Given the description of an element on the screen output the (x, y) to click on. 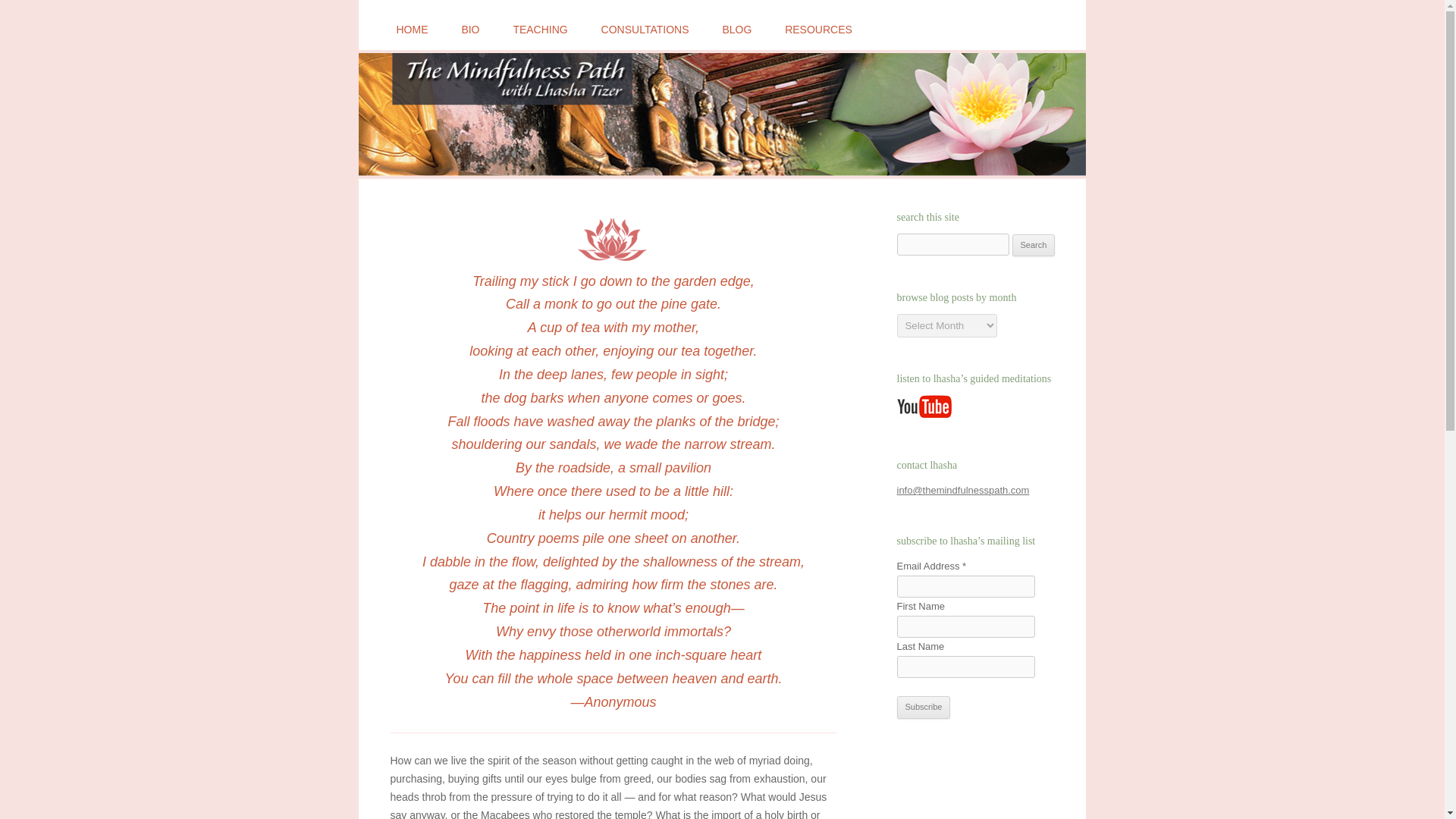
RESOURCES (817, 29)
Search (1033, 245)
Search (1033, 245)
Subscribe (923, 707)
Subscribe (923, 707)
Skip to content (757, 15)
TEACHING (539, 29)
The Mindfulness Path (450, 28)
CONSULTATIONS (644, 29)
